Given the description of an element on the screen output the (x, y) to click on. 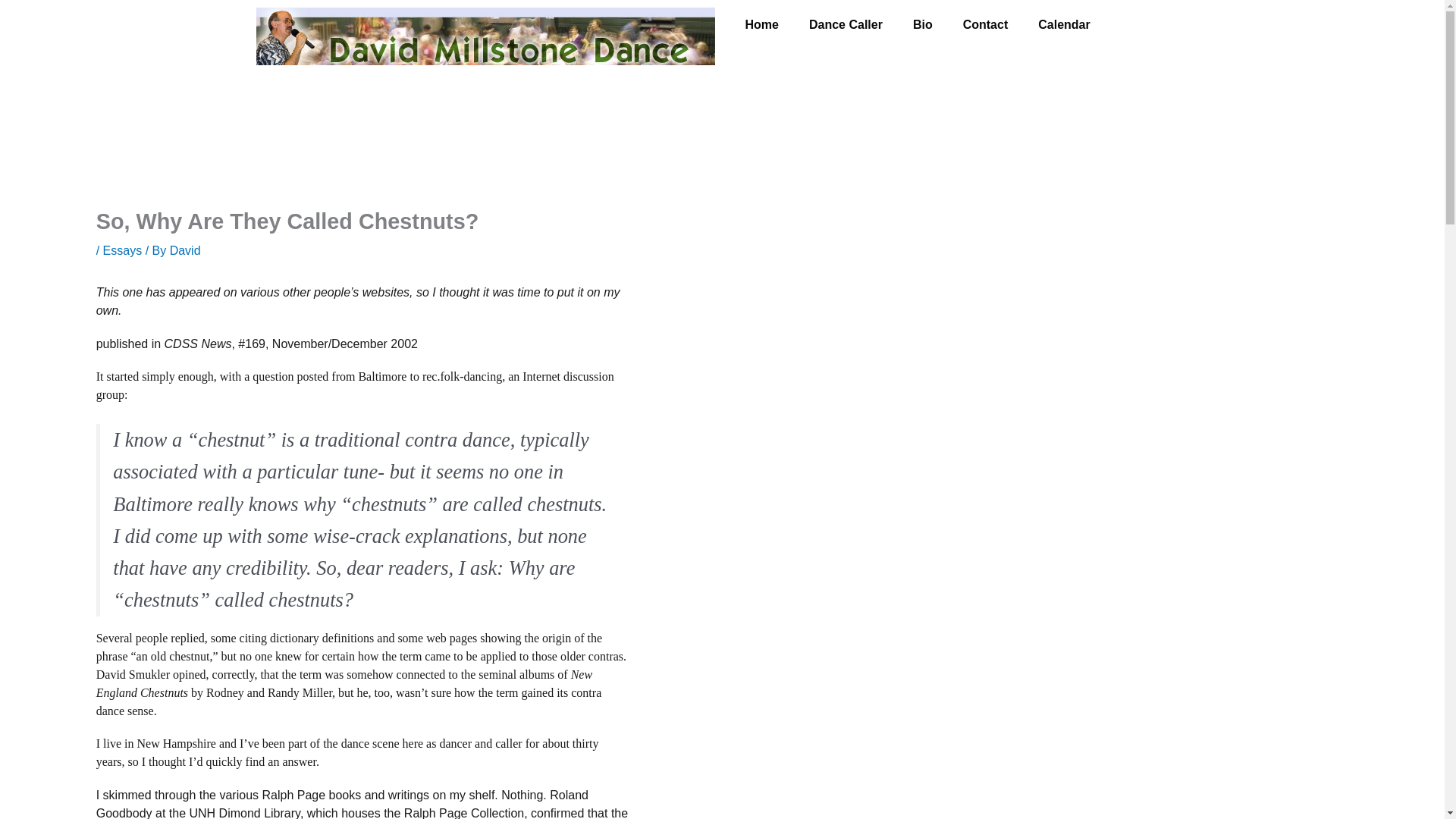
Contact (985, 24)
David (185, 250)
View all posts by David (185, 250)
Dance Caller (845, 24)
Calendar (1064, 24)
Home (761, 24)
Bio (922, 24)
Essays (122, 250)
